Given the description of an element on the screen output the (x, y) to click on. 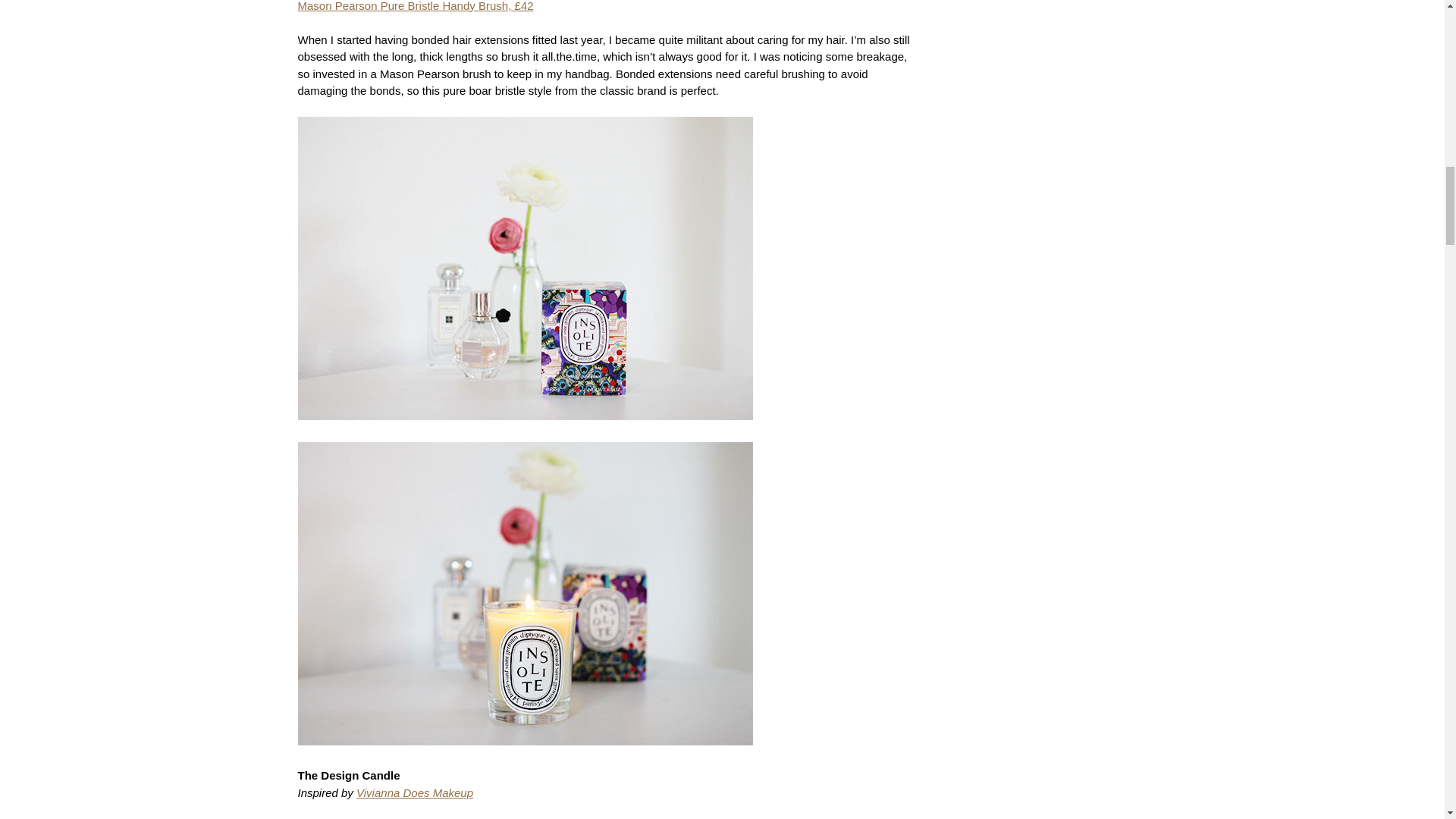
liberty print diptyque candle by jenlittlebird, on Flickr (524, 432)
Vivianna Does Makeup (414, 792)
